Given the description of an element on the screen output the (x, y) to click on. 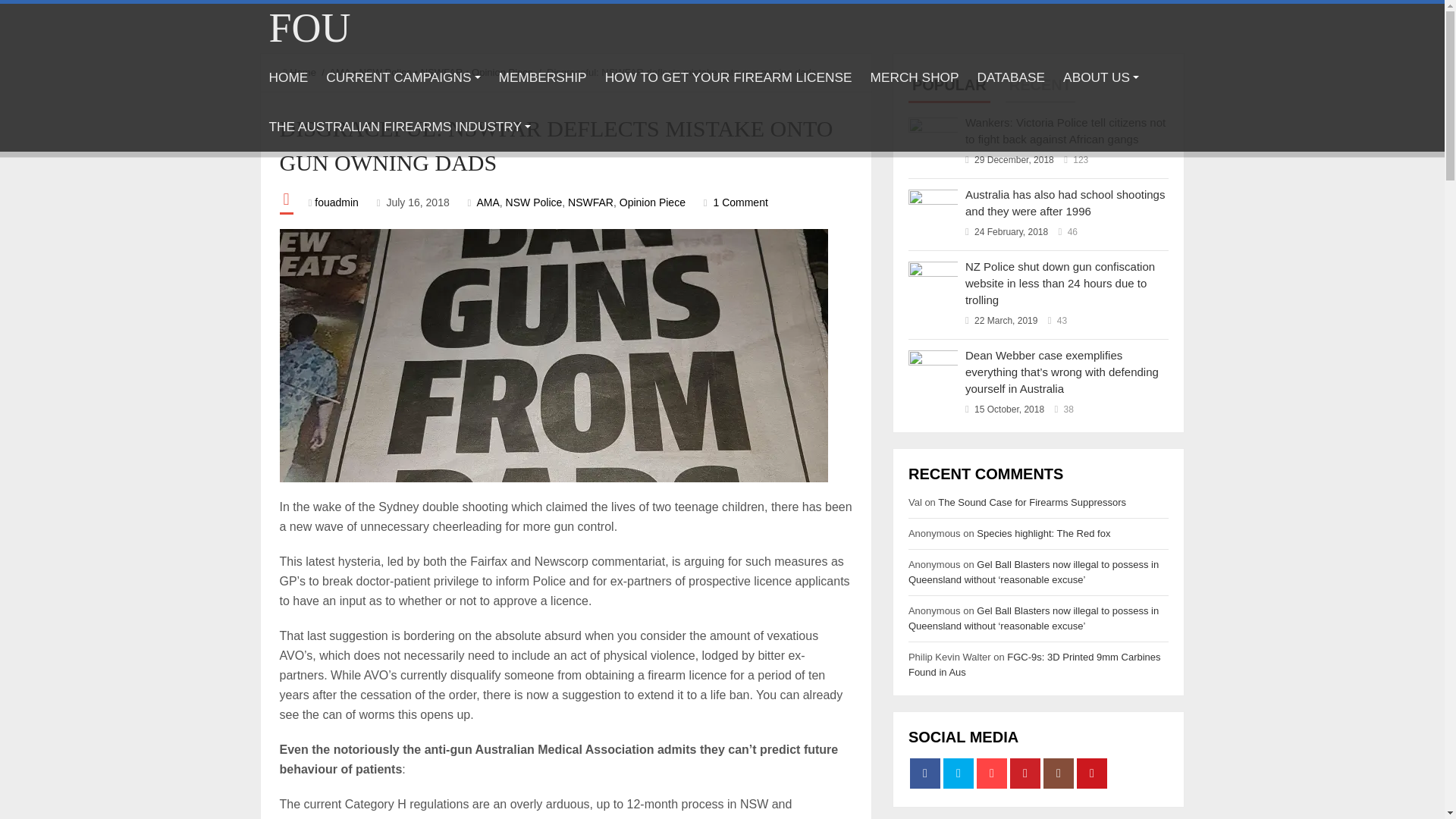
16 July, 2018 (416, 202)
NSWFAR (589, 202)
Opinion Piece (501, 71)
NSW Police (533, 202)
AMA (487, 202)
Posts by fouadmin (336, 202)
THE AUSTRALIAN FIREARMS INDUSTRY (399, 126)
AMA (339, 71)
MERCH SHOP (914, 77)
Opinion Piece (652, 202)
NSWFAR (441, 71)
HOW TO GET YOUR FIREARM LICENSE (728, 77)
